Given the description of an element on the screen output the (x, y) to click on. 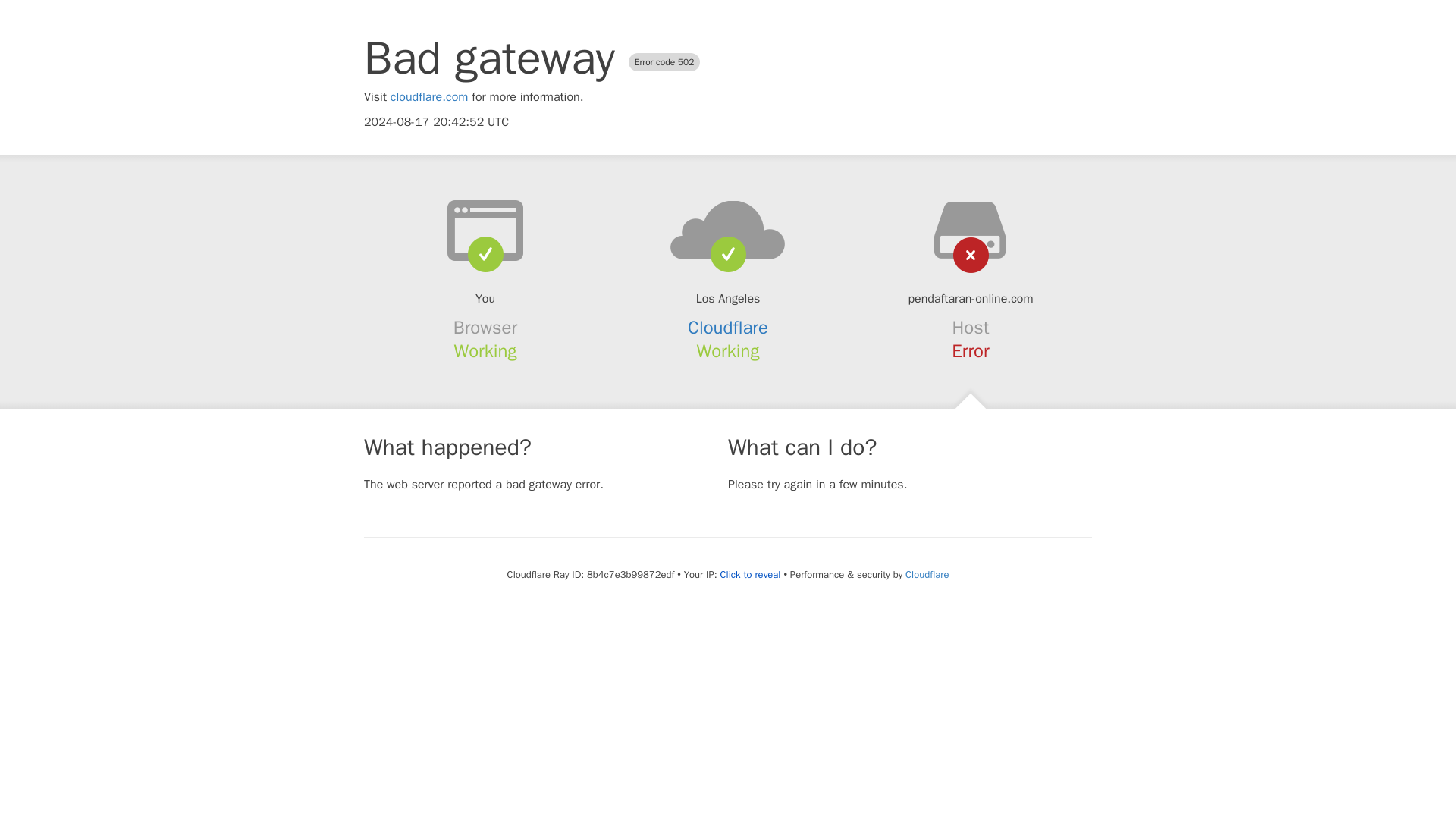
Cloudflare (927, 574)
Click to reveal (750, 574)
cloudflare.com (429, 96)
Cloudflare (727, 327)
